Given the description of an element on the screen output the (x, y) to click on. 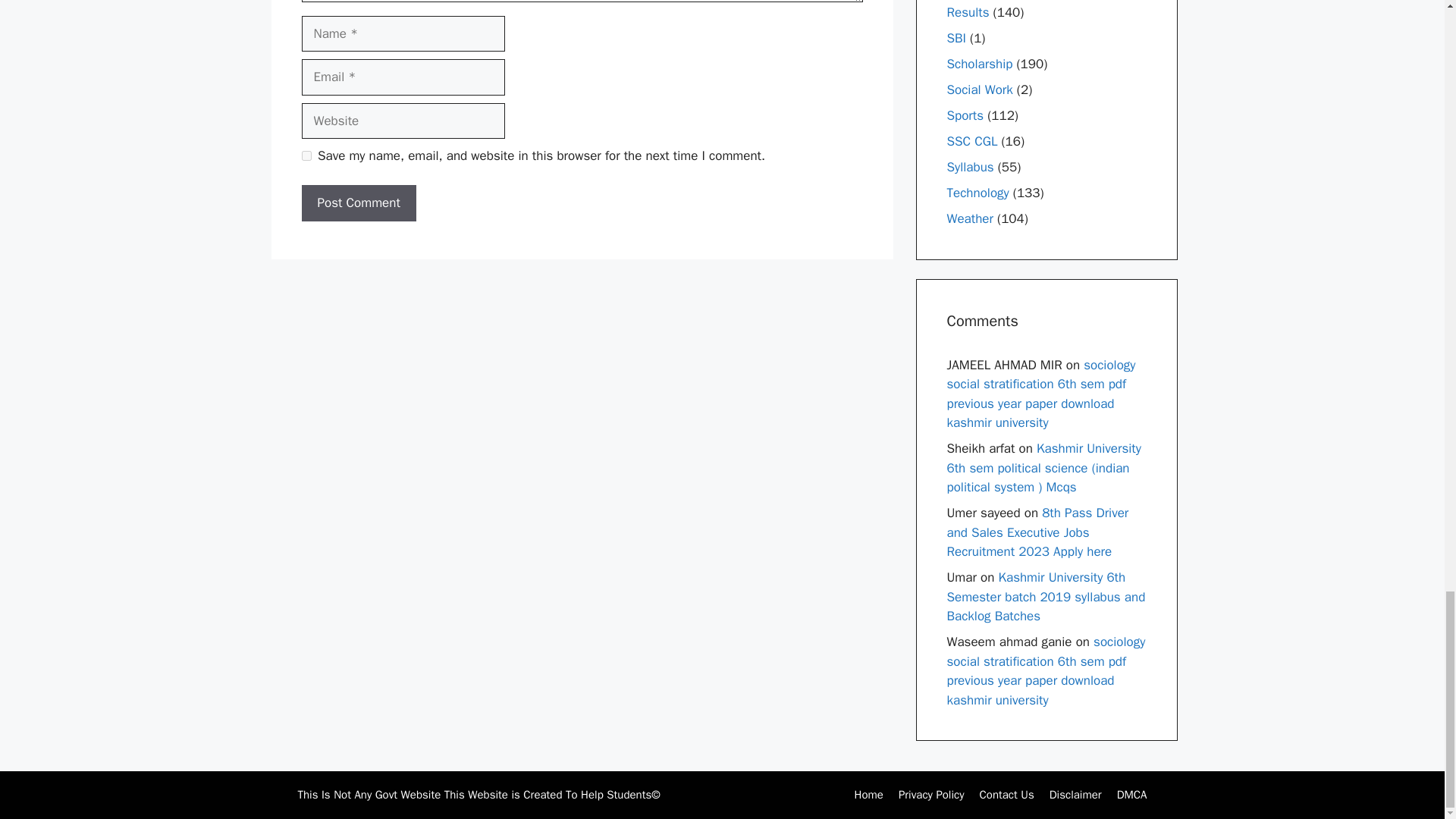
yes (306, 155)
Post Comment (358, 203)
Post Comment (358, 203)
